Given the description of an element on the screen output the (x, y) to click on. 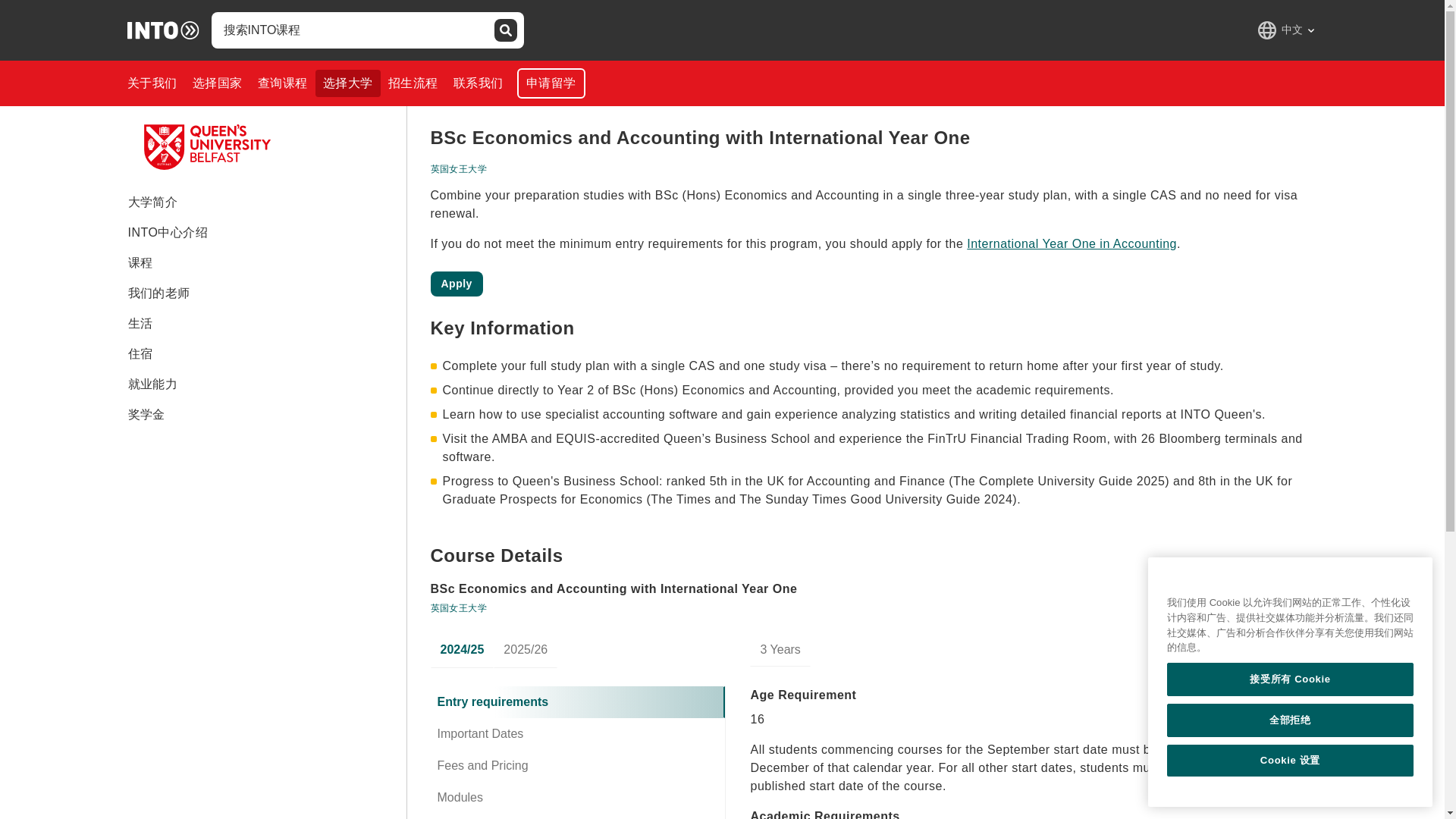
Entry requirements (577, 702)
Apply (456, 283)
Modules (577, 798)
Important Dates (577, 734)
Fees and Pricing (577, 766)
Language (1285, 30)
Progression (577, 816)
International Year One in Accounting (1071, 243)
Find out more about the International Year One in Accounting (1071, 243)
